Given the description of an element on the screen output the (x, y) to click on. 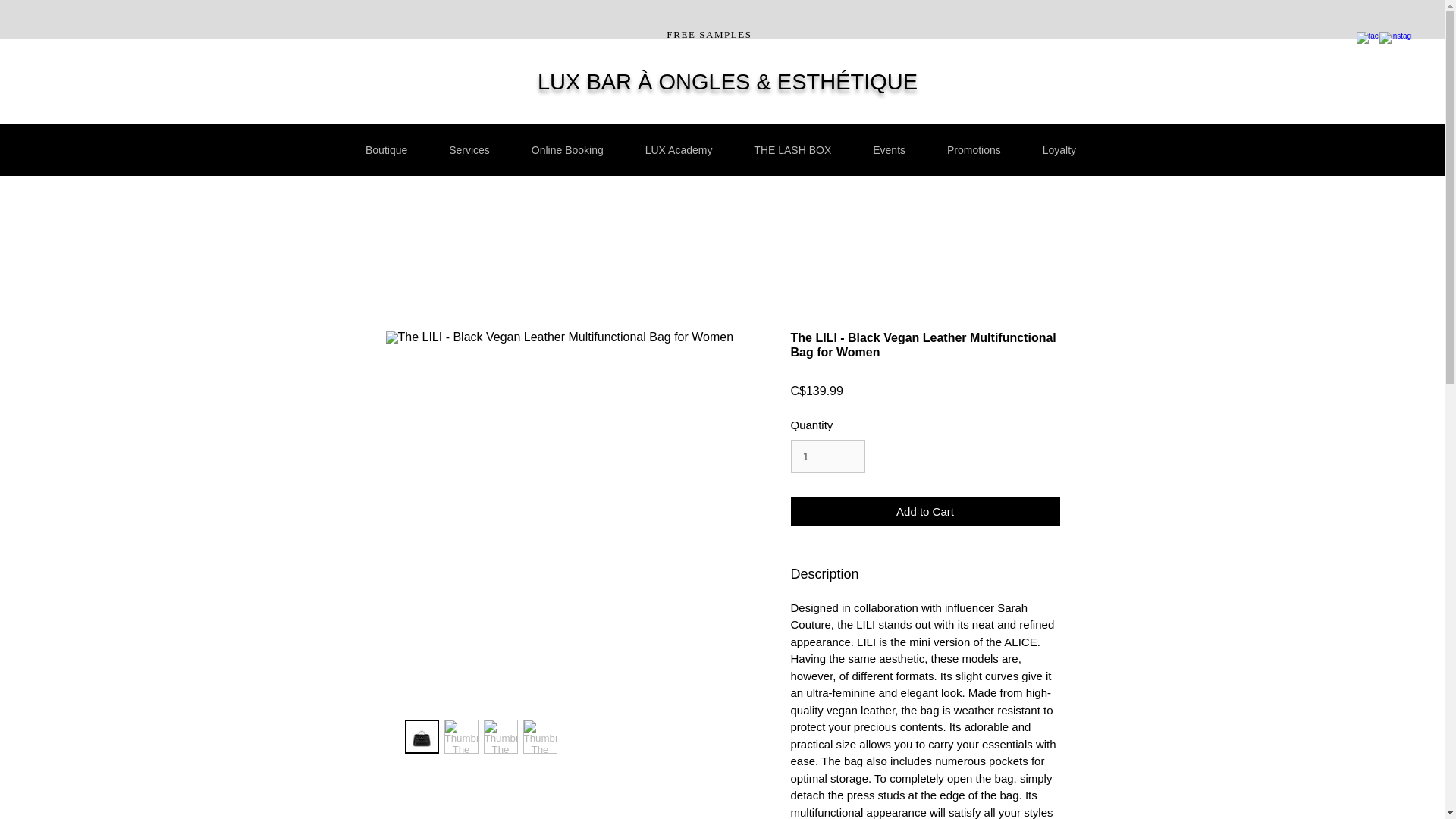
Boutique (386, 149)
LUX Academy (678, 149)
1 (827, 456)
THE LASH BOX (792, 149)
Services (469, 149)
